Given the description of an element on the screen output the (x, y) to click on. 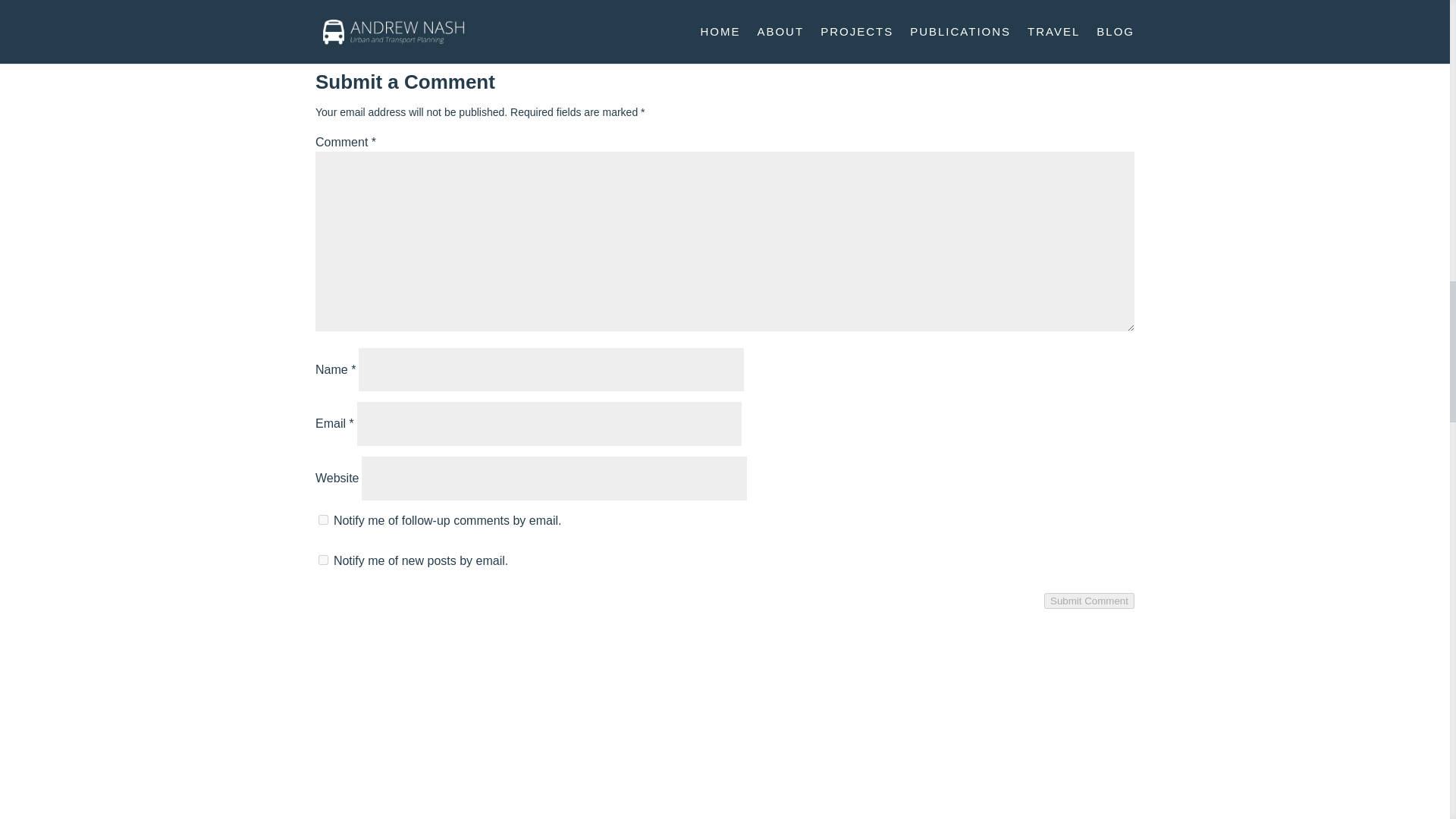
Submit Comment (1088, 600)
subscribe (323, 519)
subscribe (323, 560)
